Given the description of an element on the screen output the (x, y) to click on. 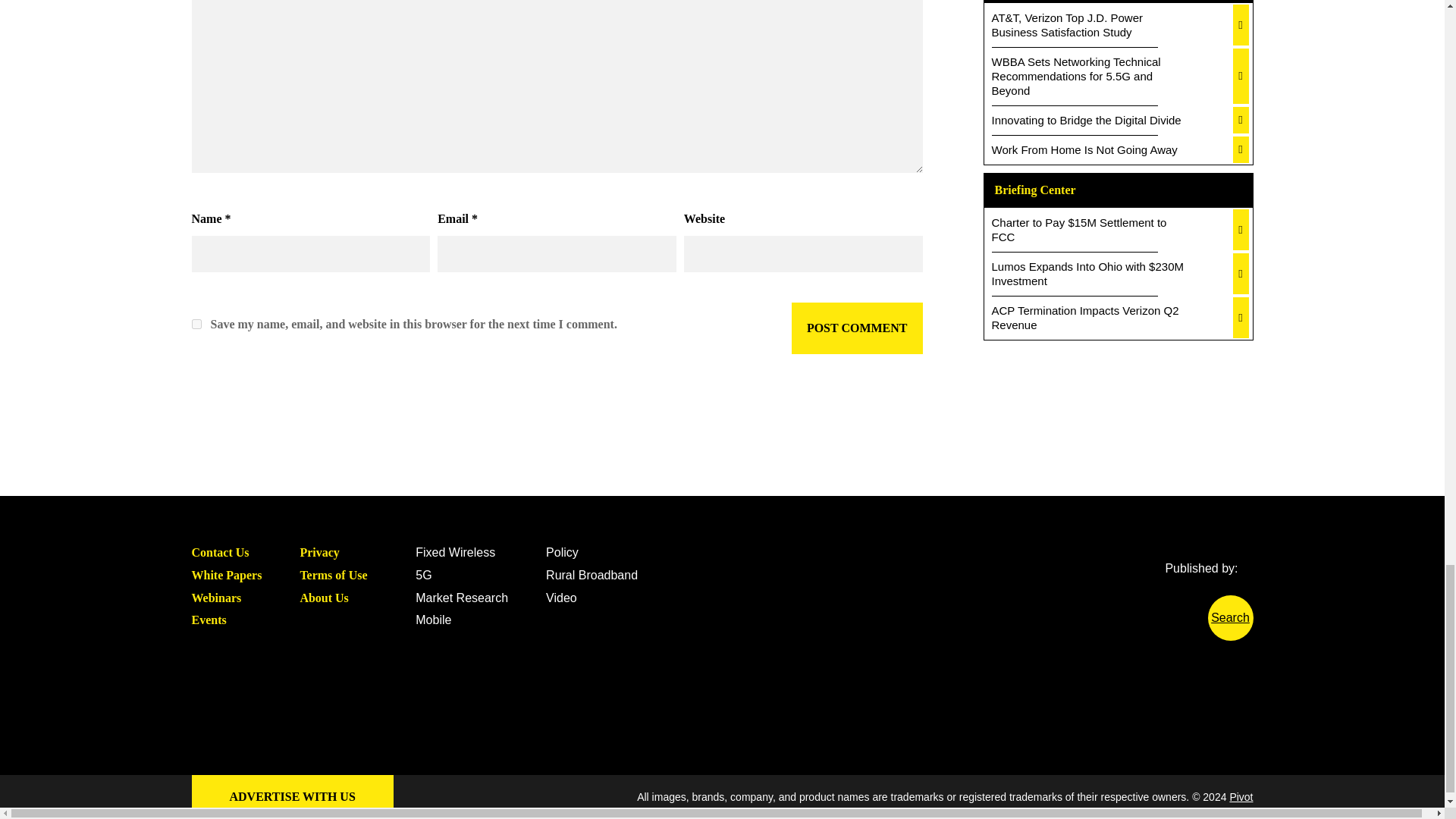
yes (195, 324)
Post Comment (857, 327)
